Given the description of an element on the screen output the (x, y) to click on. 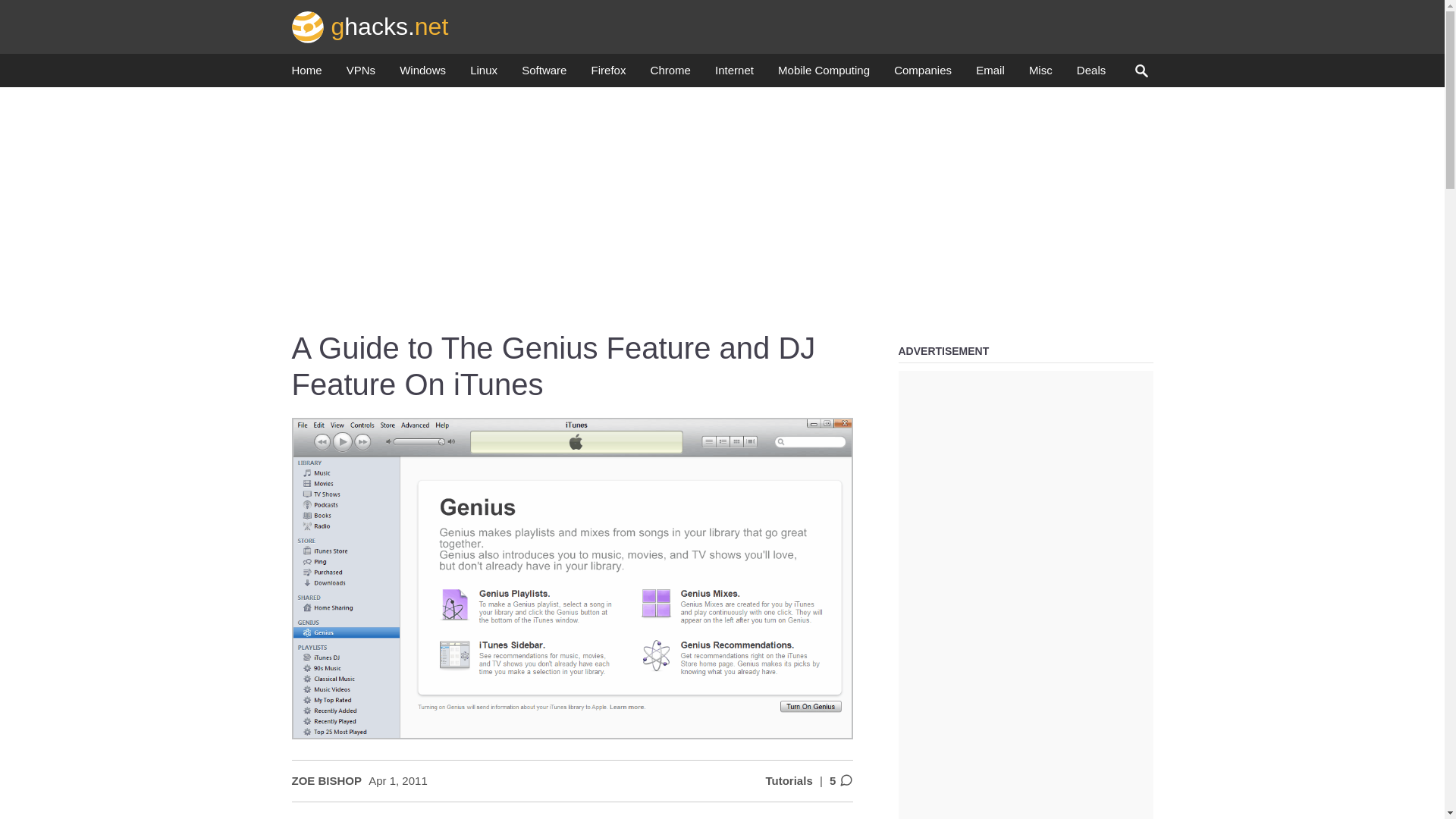
ghacks.net (369, 26)
Home (306, 73)
Windows (421, 73)
Companies (922, 73)
Misc (1040, 73)
Deals (1091, 73)
Linux (483, 73)
VPNs (360, 73)
Software (543, 73)
Internet (734, 73)
Mobile Computing (823, 73)
Firefox (608, 73)
Chrome (670, 73)
Email (989, 73)
